Given the description of an element on the screen output the (x, y) to click on. 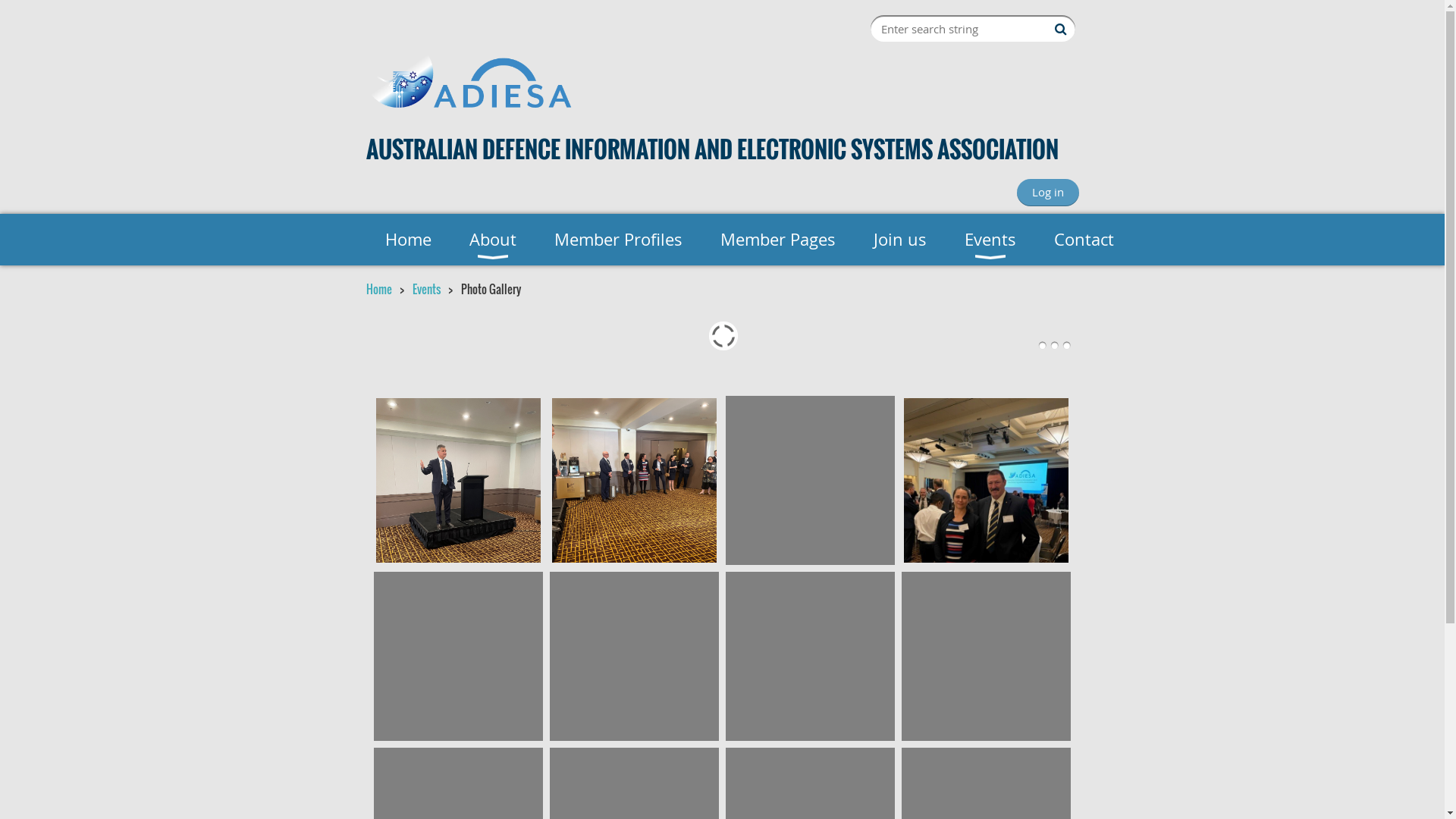
Events Element type: text (989, 239)
Member Pages Element type: text (776, 239)
Join us Element type: text (898, 239)
Contact Element type: text (1083, 239)
Home Element type: text (407, 239)
Member Profiles Element type: text (618, 239)
Log in Element type: text (1047, 192)
Home Element type: text (378, 288)
Events Element type: text (426, 288)
About Element type: text (492, 239)
